Given the description of an element on the screen output the (x, y) to click on. 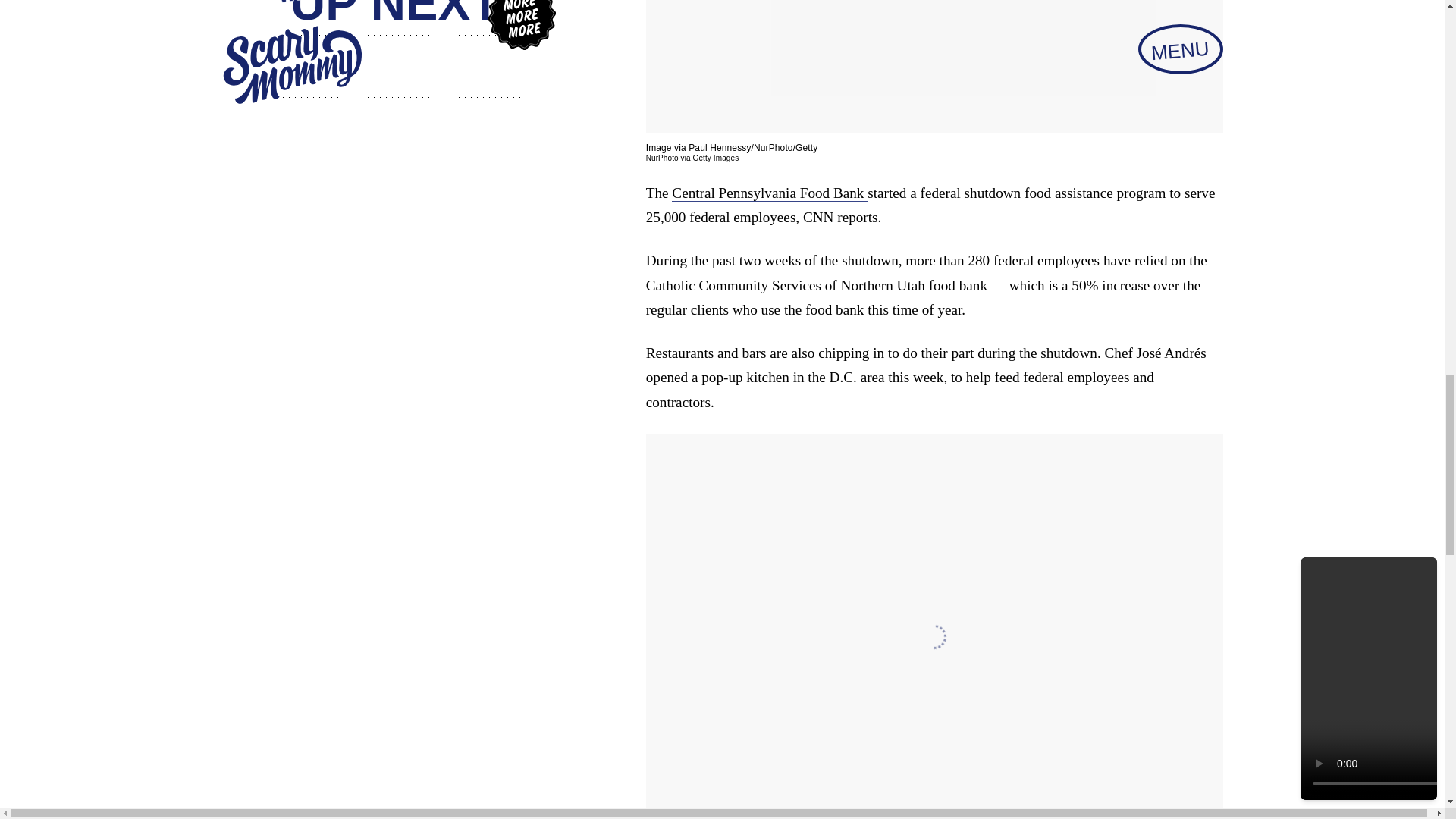
Central Pennsylvania Food Bank (769, 193)
